Given the description of an element on the screen output the (x, y) to click on. 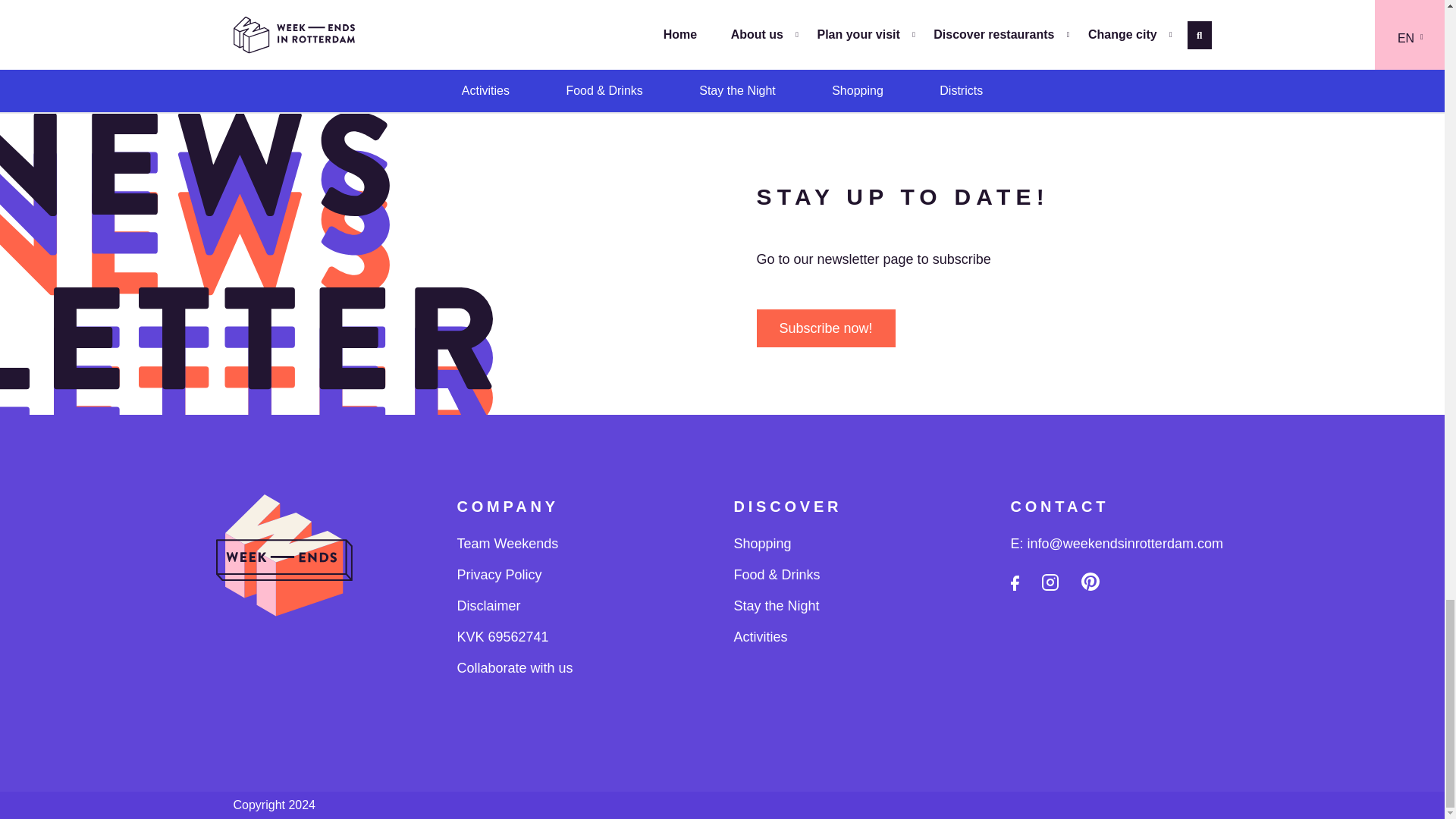
Logo - Weekends in Rotterdam (283, 562)
Subscribe now! (826, 328)
